Given the description of an element on the screen output the (x, y) to click on. 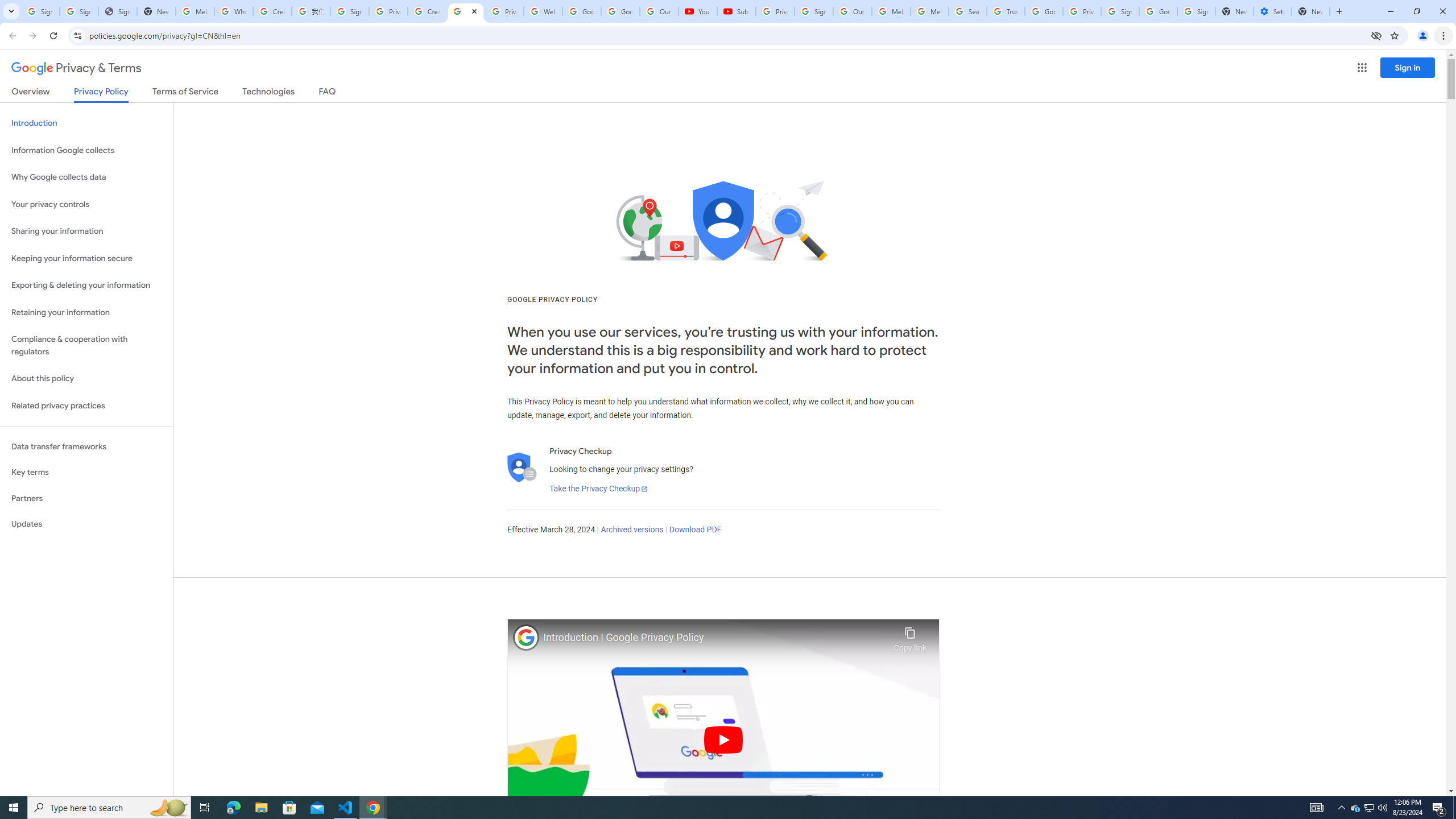
Search our Doodle Library Collection - Google Doodles (967, 11)
Sign in - Google Accounts (349, 11)
Keeping your information secure (86, 258)
Data transfer frameworks (86, 446)
Sign in - Google Accounts (79, 11)
About this policy (86, 379)
Google Cybersecurity Innovations - Google Safety Center (1158, 11)
Related privacy practices (86, 405)
